Given the description of an element on the screen output the (x, y) to click on. 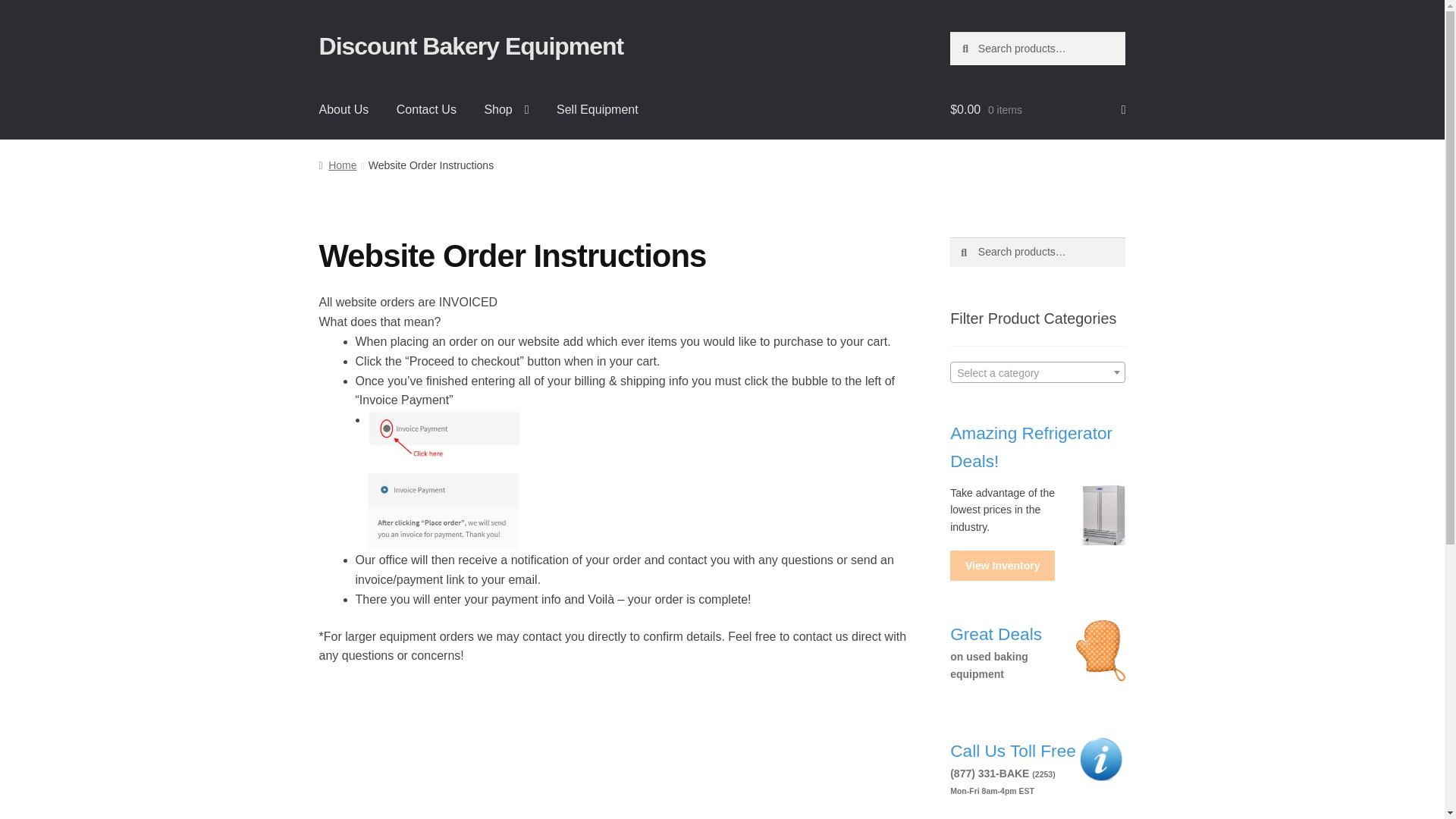
Home (337, 164)
View Inventory (1002, 565)
Sell Equipment (597, 109)
Discount Bakery Equipment (471, 45)
View your shopping cart (1037, 109)
View Inventory (1002, 565)
Search (1037, 658)
Shop (344, 109)
Contact Us (505, 109)
Search (426, 109)
